Given the description of an element on the screen output the (x, y) to click on. 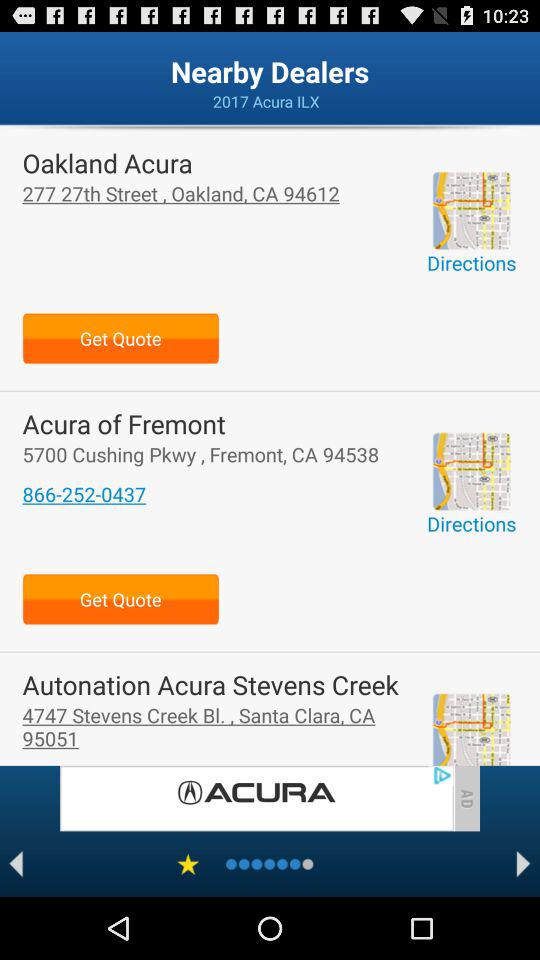
go to location option (471, 210)
